Given the description of an element on the screen output the (x, y) to click on. 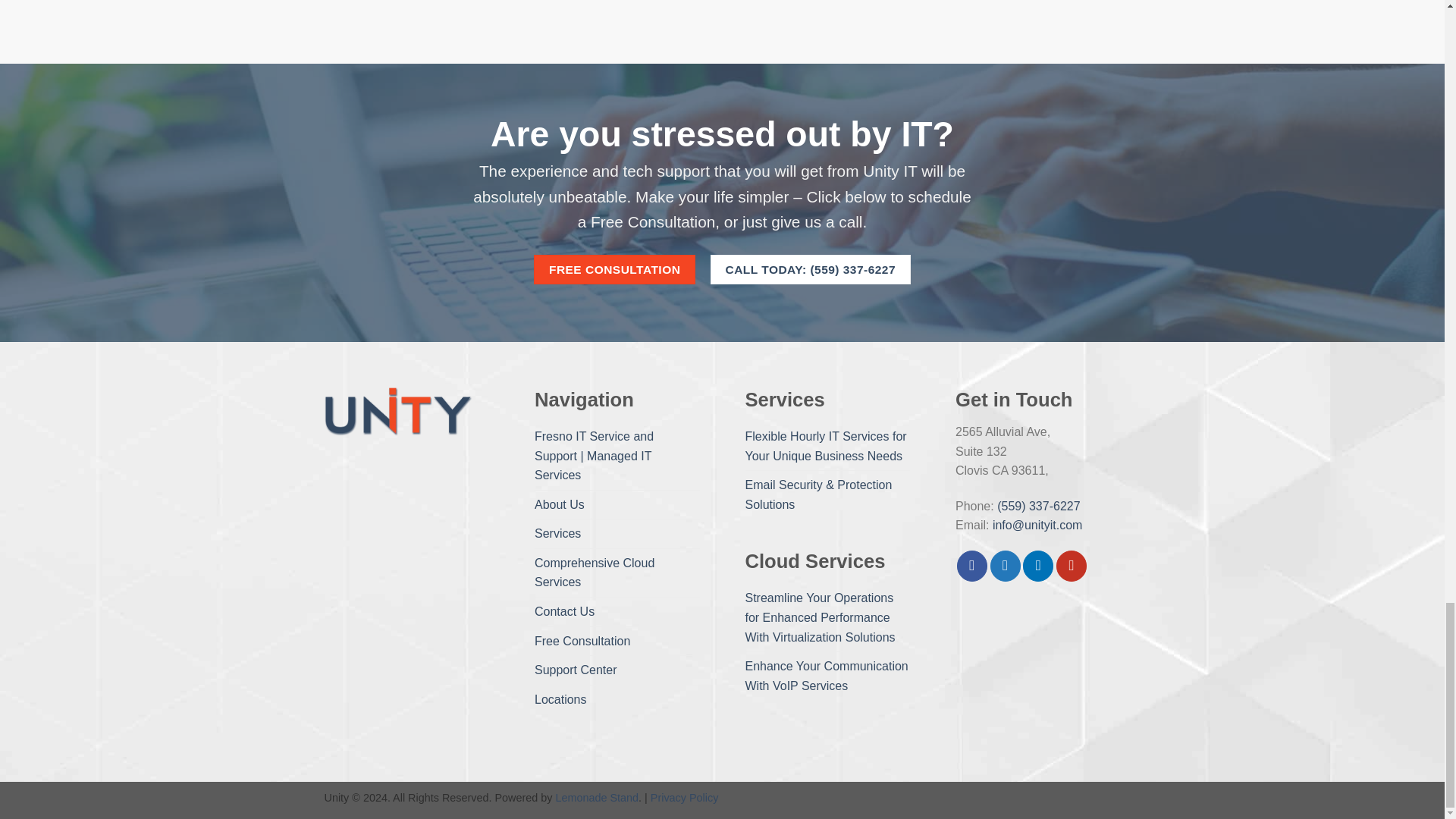
Follow on Twitter (1005, 565)
Follow on YouTube (1071, 565)
Follow on LinkedIn (1037, 565)
Follow on Facebook (971, 565)
